Given the description of an element on the screen output the (x, y) to click on. 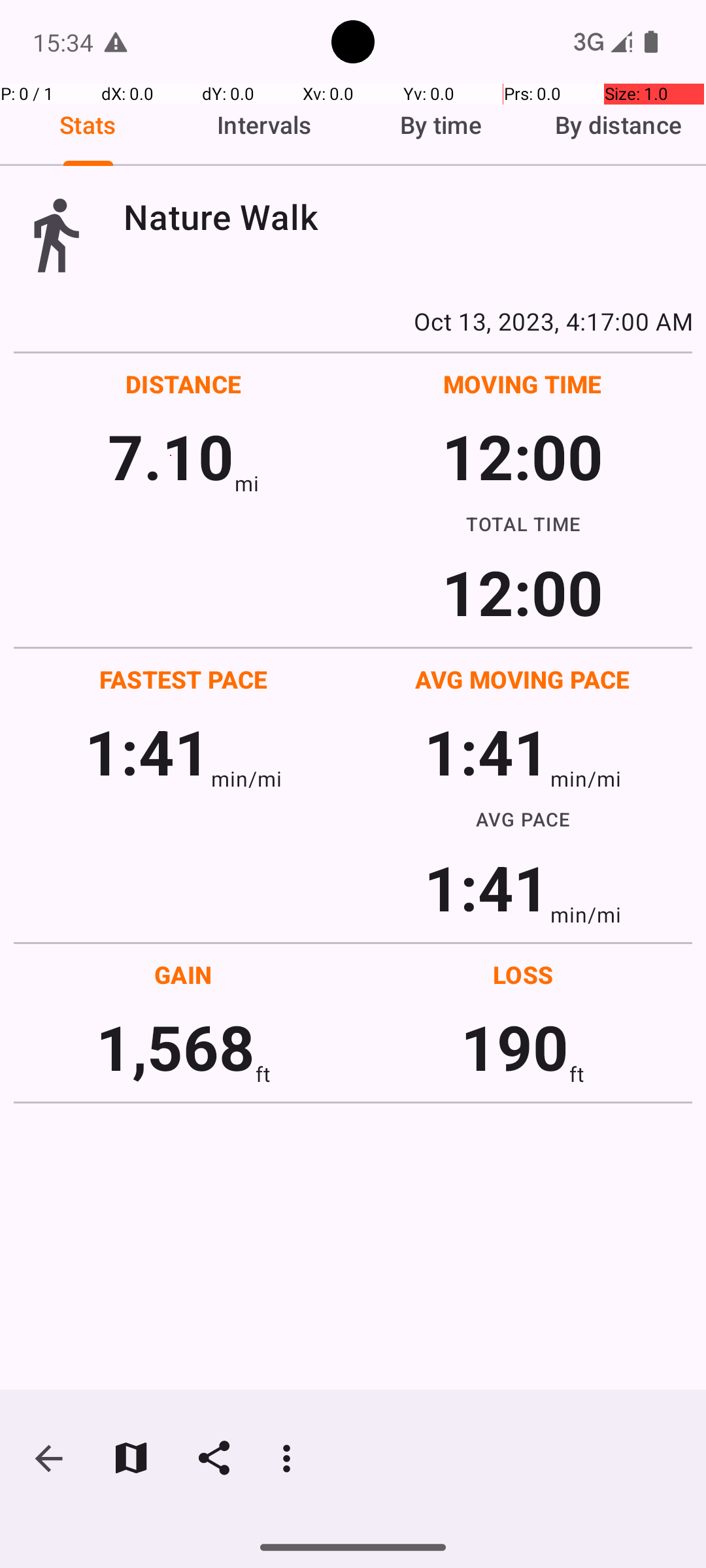
Nature Walk Element type: android.widget.TextView (407, 216)
Oct 13, 2023, 4:17:00 AM Element type: android.widget.TextView (352, 320)
MOVING TIME Element type: android.widget.TextView (522, 383)
7.10 Element type: android.widget.TextView (170, 455)
mi Element type: android.widget.TextView (246, 483)
12:00 Element type: android.widget.TextView (522, 455)
TOTAL TIME Element type: android.widget.TextView (522, 523)
FASTEST PACE Element type: android.widget.TextView (183, 678)
AVG MOVING PACE Element type: android.widget.TextView (522, 678)
1:41 Element type: android.widget.TextView (147, 750)
min/mi Element type: android.widget.TextView (246, 778)
AVG PACE Element type: android.widget.TextView (522, 818)
GAIN Element type: android.widget.TextView (183, 974)
LOSS Element type: android.widget.TextView (522, 974)
1,568 Element type: android.widget.TextView (175, 1045)
ft Element type: android.widget.TextView (262, 1073)
190 Element type: android.widget.TextView (514, 1045)
